Given the description of an element on the screen output the (x, y) to click on. 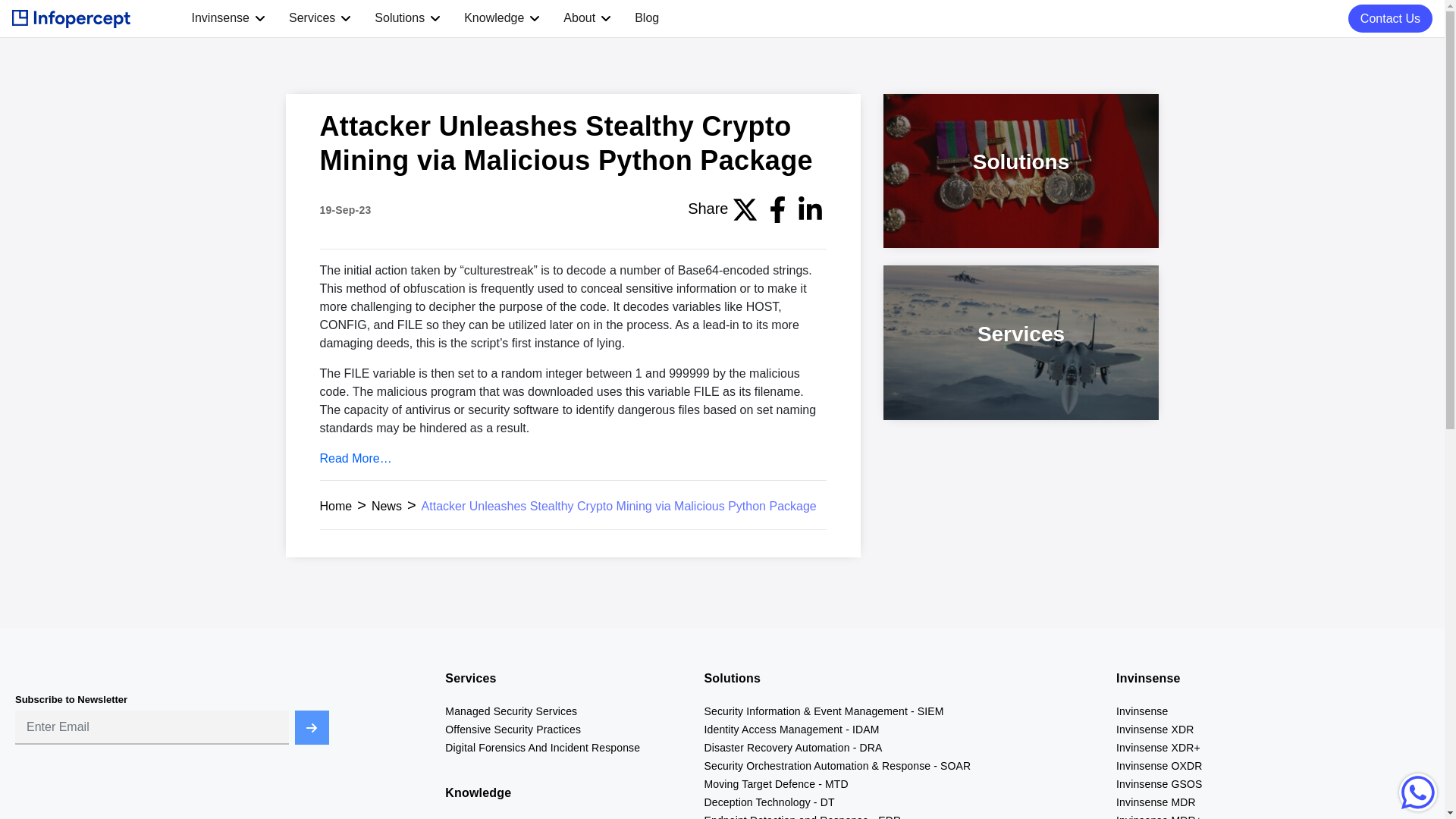
Services (311, 17)
Solutions (399, 17)
Knowledge (494, 17)
Invinsense (219, 17)
Services (311, 17)
Invinsense (219, 17)
